Given the description of an element on the screen output the (x, y) to click on. 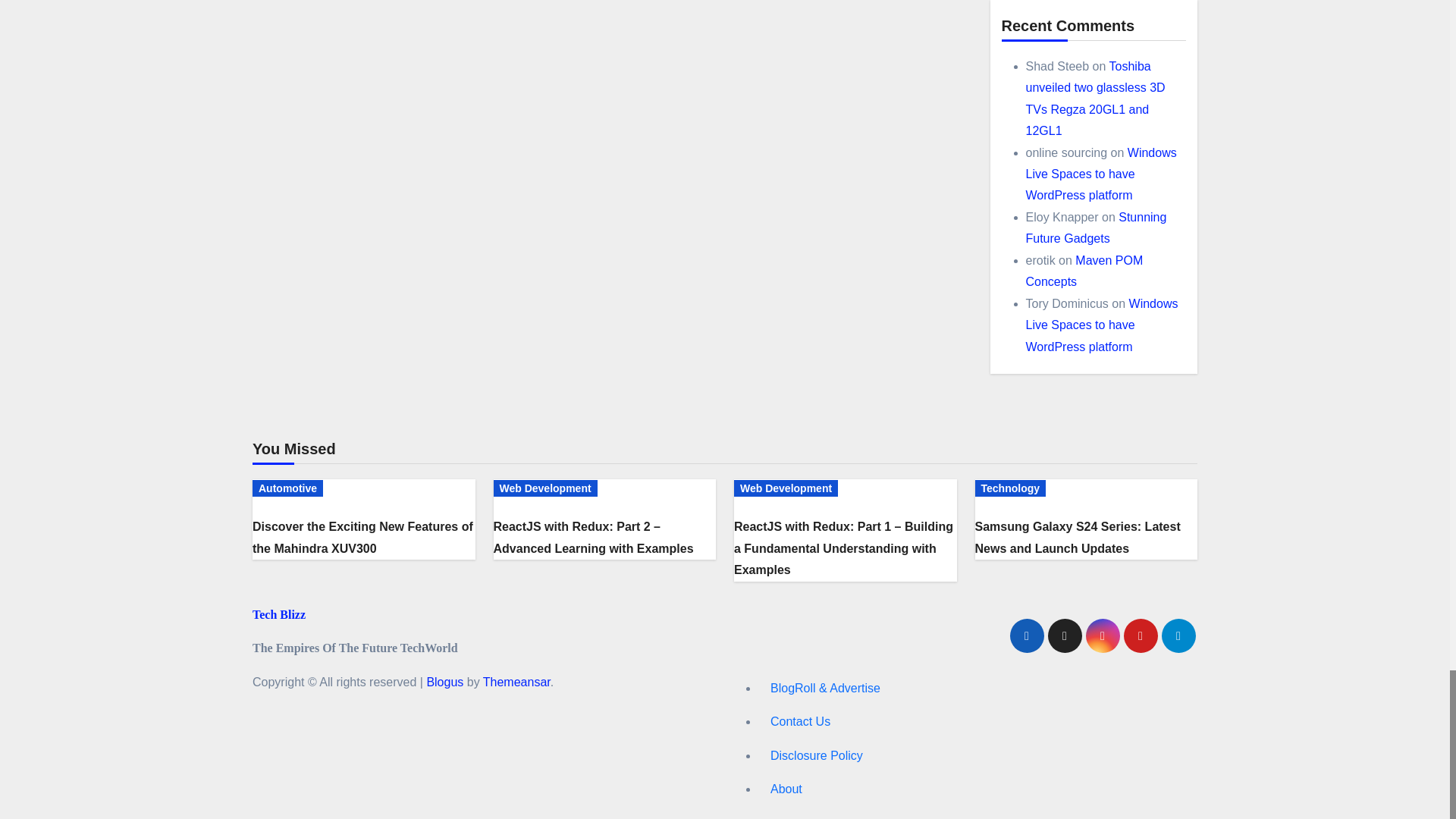
Disclosure Policy (977, 756)
Contact Us (977, 721)
